Given the description of an element on the screen output the (x, y) to click on. 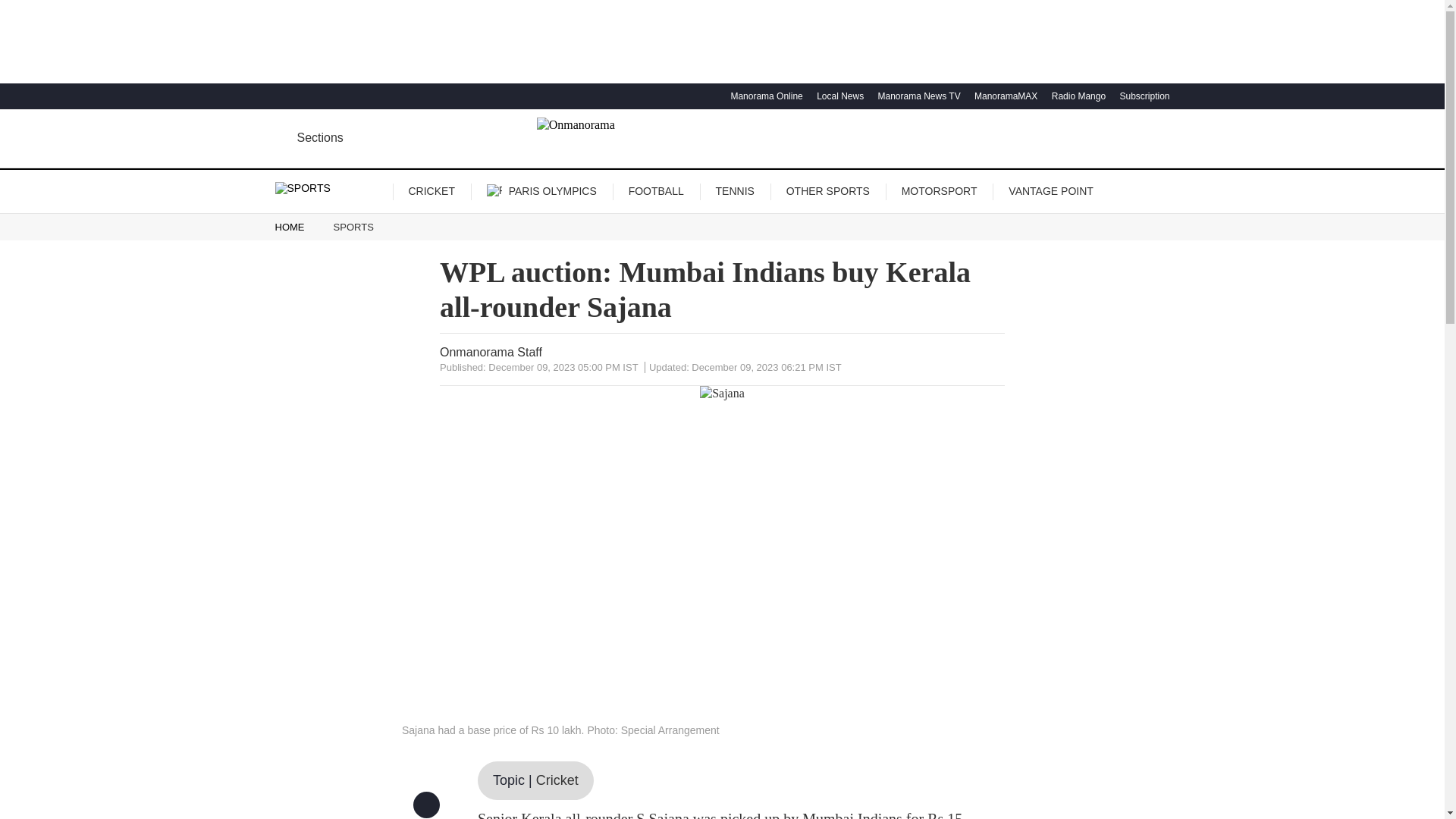
Subscription (1142, 95)
Manorama News TV (916, 95)
PARIS OLYMPICS (541, 191)
FOOTBALL (656, 191)
Local News (837, 95)
ManoramaMAX (1003, 95)
Radio Mango (1076, 95)
Manorama Online (764, 95)
TENNIS (734, 191)
CRICKET (430, 191)
